Given the description of an element on the screen output the (x, y) to click on. 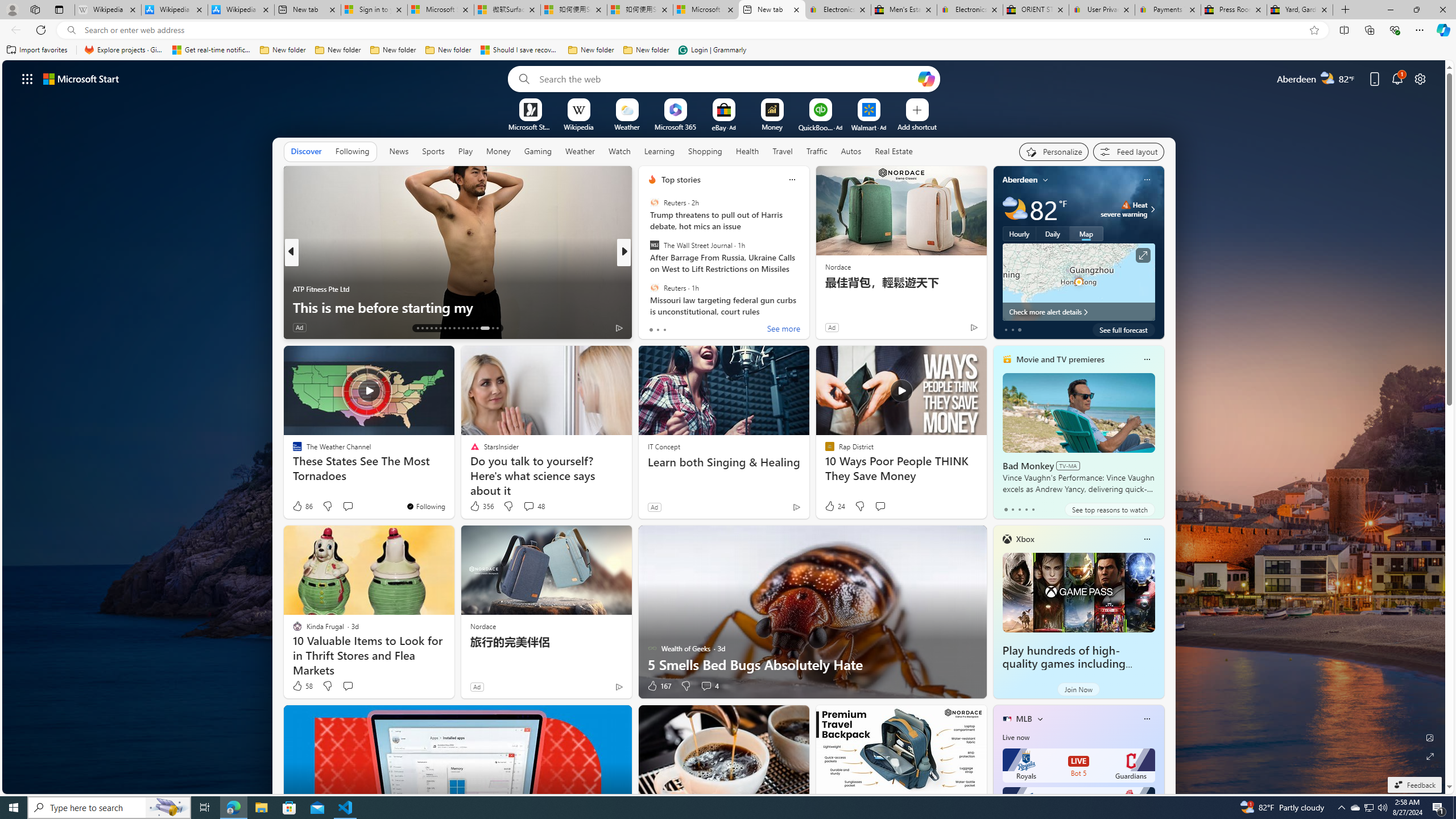
Start the conversation (347, 685)
AutomationID: tab-25 (472, 328)
Partly cloudy (1014, 208)
View comments 4 Comment (705, 685)
AutomationID: tab-26 (476, 328)
Gaming (537, 151)
Electronics, Cars, Fashion, Collectibles & More | eBay (969, 9)
Expand background (1430, 756)
Dislike (685, 685)
Xbox (1025, 538)
AutomationID: tab-29 (497, 328)
AutomationID: tab-21 (454, 328)
Larger map  (1077, 282)
